Given the description of an element on the screen output the (x, y) to click on. 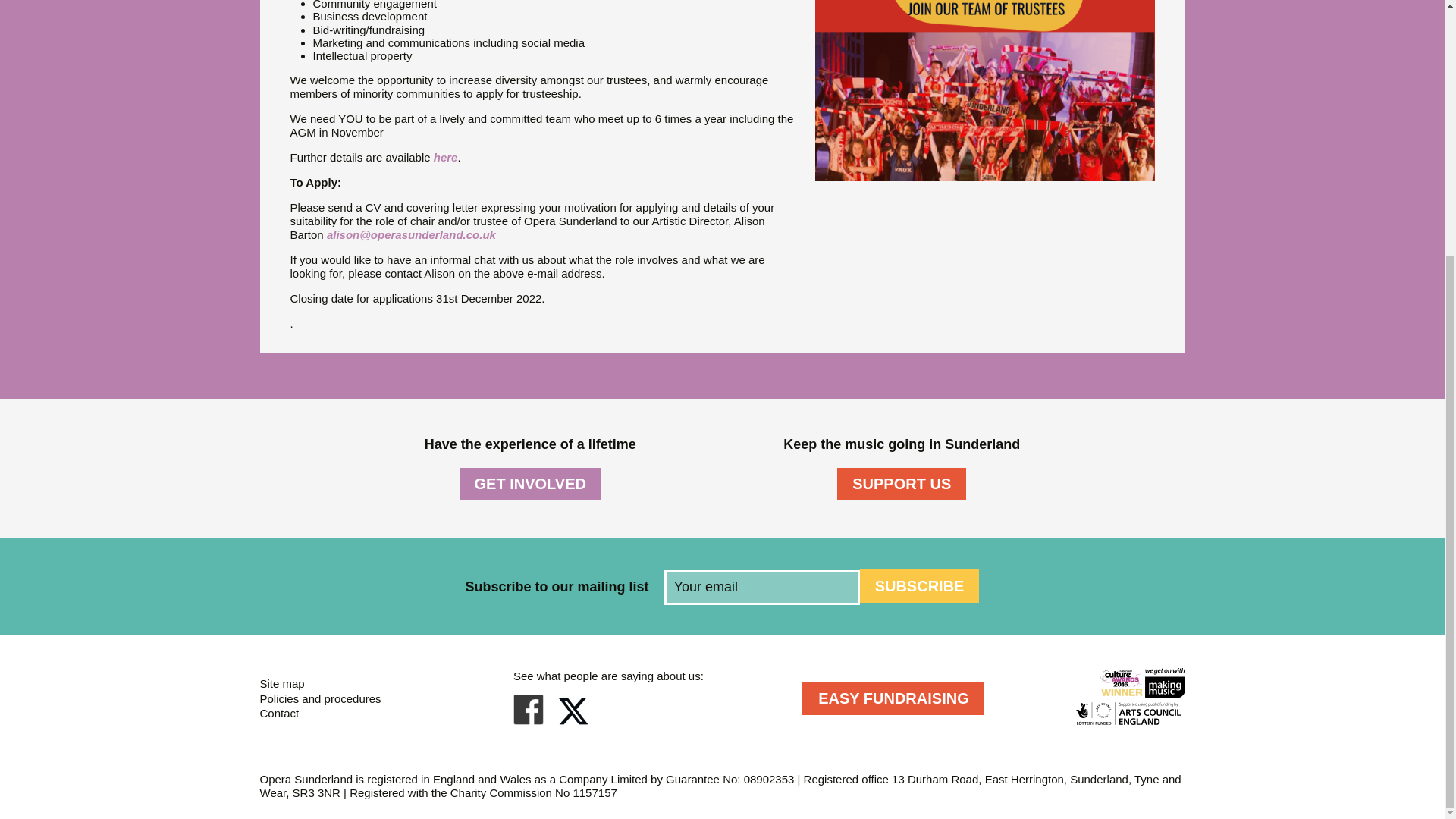
Easy Fundraising (893, 698)
Opera Sunderland Facebook (528, 720)
here (445, 156)
Get Involved (530, 483)
Support Us (901, 483)
SUPPORT US (901, 483)
Subscribe (919, 585)
Policies and procedures (319, 698)
Contact (278, 712)
EASY FUNDRAISING (893, 698)
